Given the description of an element on the screen output the (x, y) to click on. 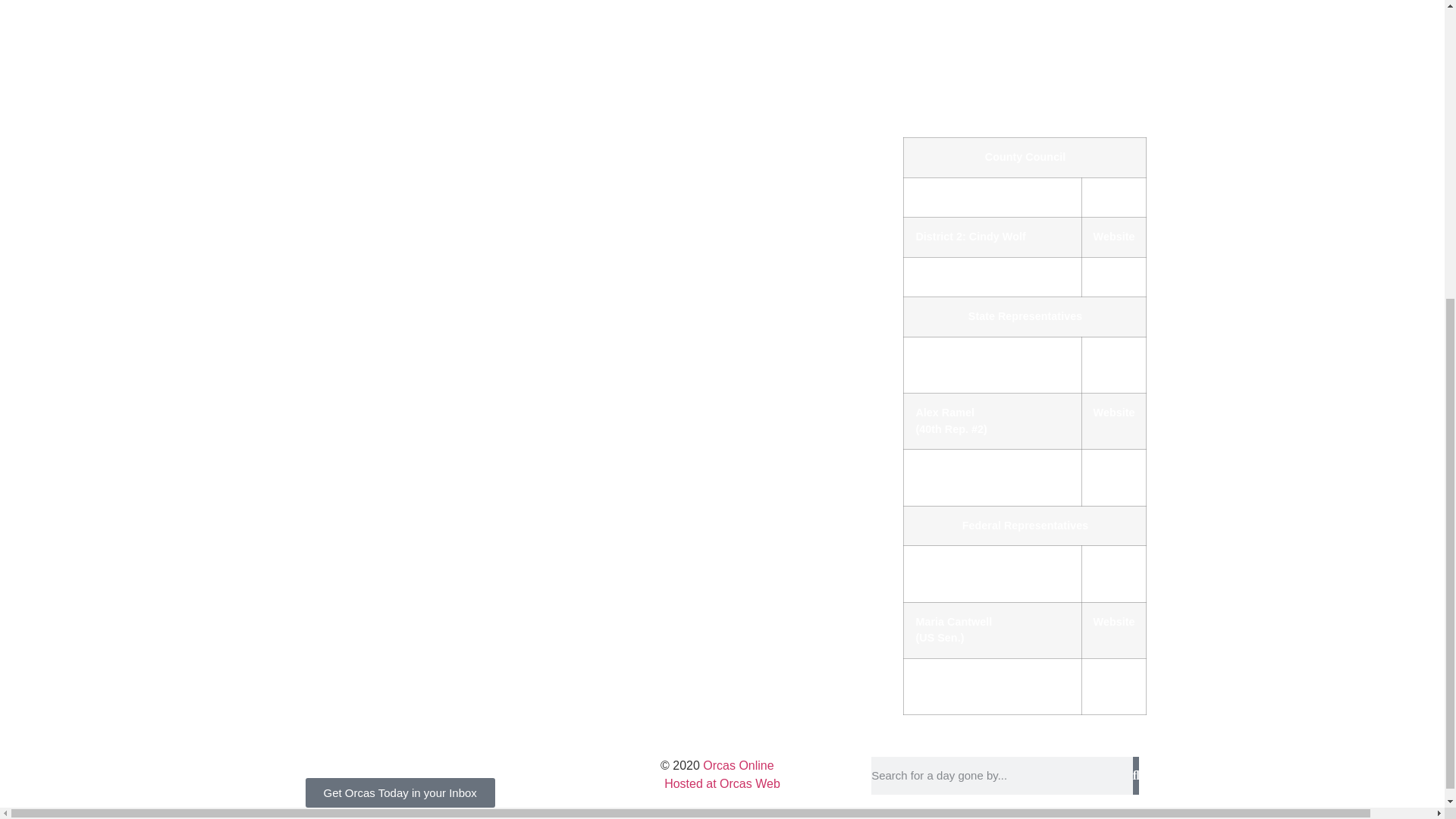
Hosted at Orcas Web (721, 783)
Website (1114, 236)
Get Orcas Today in your Inbox (399, 317)
Website (1114, 564)
Website (1114, 677)
Website (1114, 196)
Orcas Online    (743, 765)
Website (1114, 276)
Website (1114, 621)
Website (1114, 356)
